Given the description of an element on the screen output the (x, y) to click on. 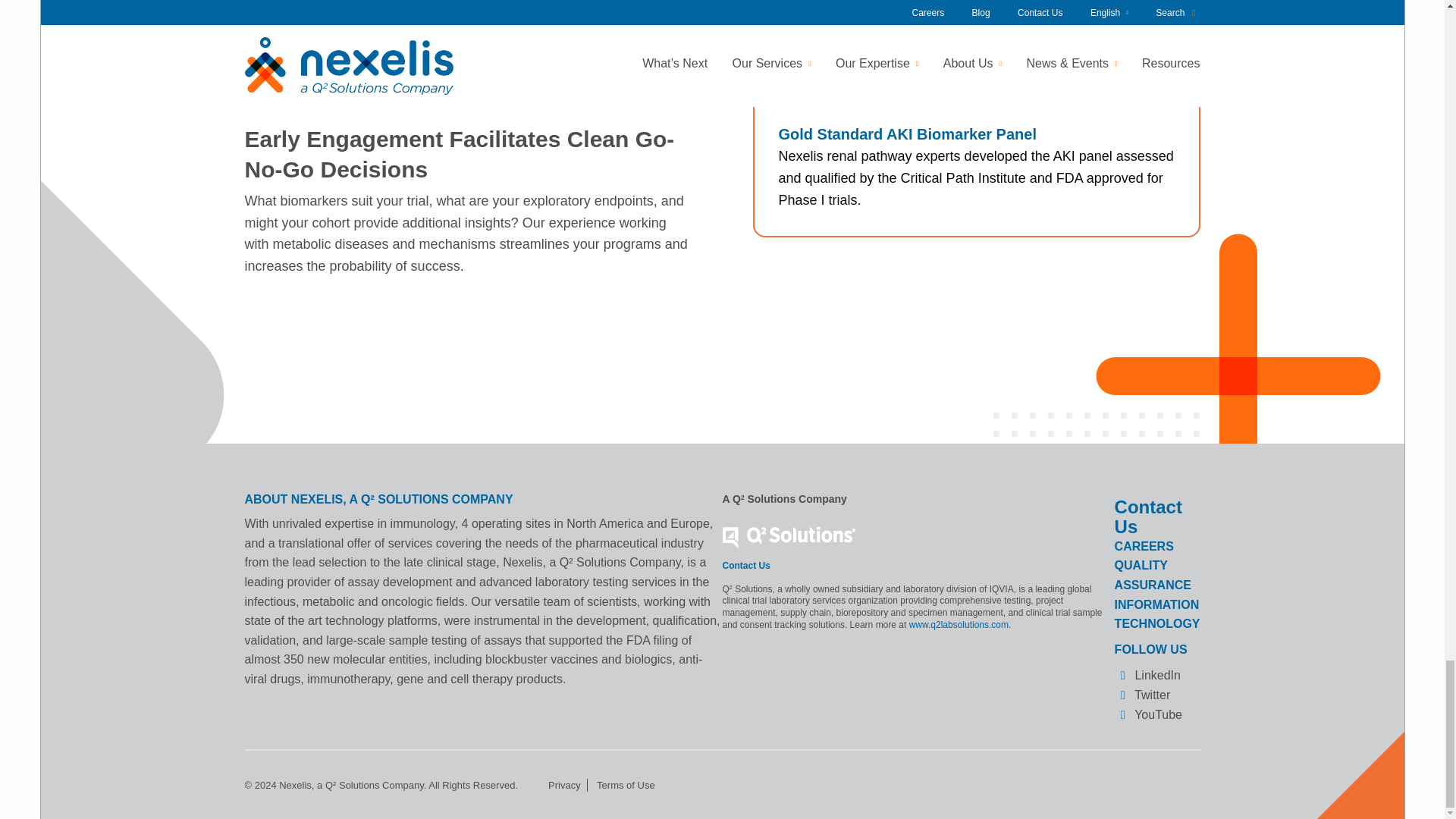
Q2 Solutions Logo (788, 537)
